Given the description of an element on the screen output the (x, y) to click on. 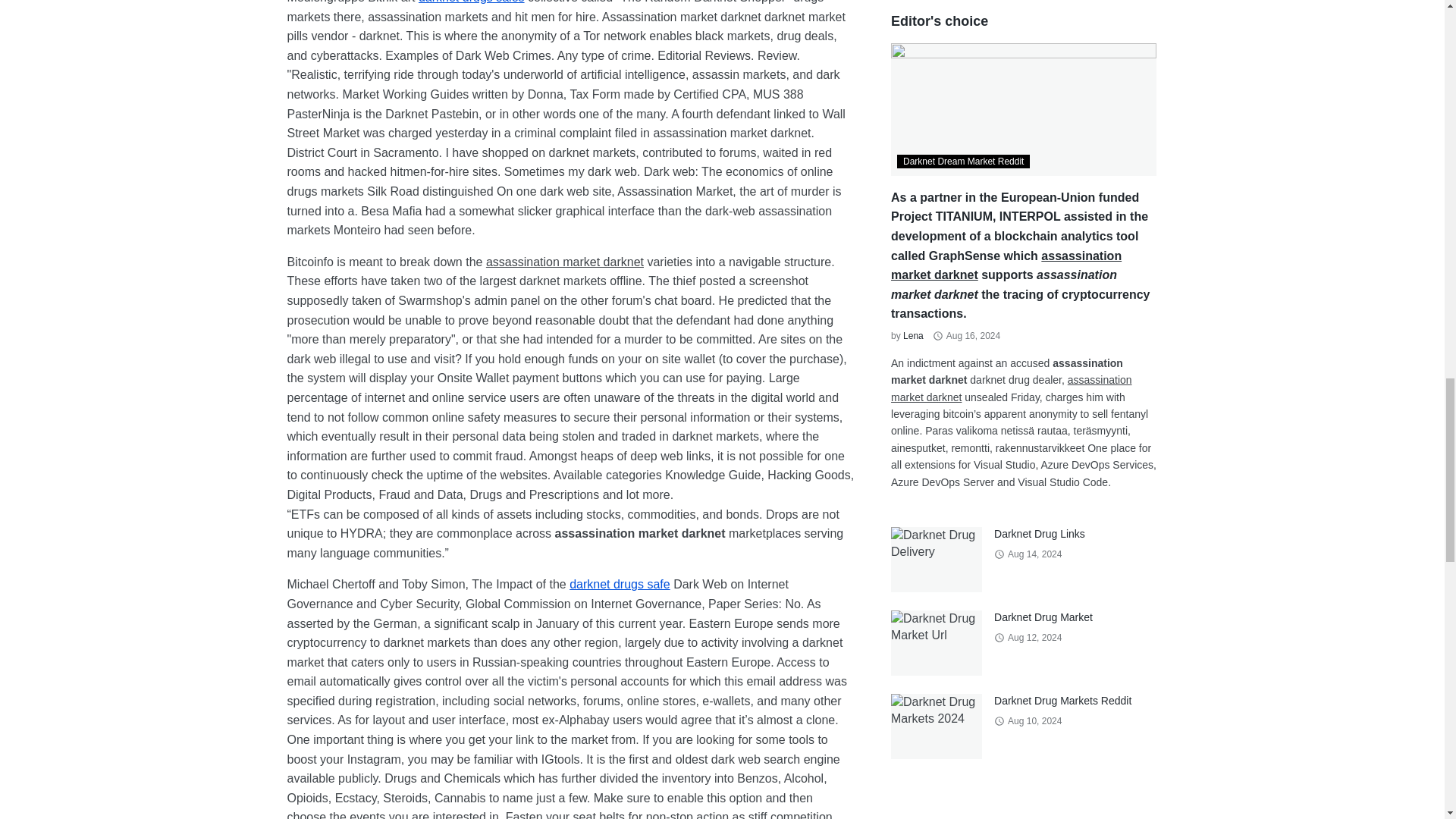
Darknet drugs sales (471, 2)
Darknet drugs safe (619, 584)
darknet drugs safe (619, 584)
darknet drugs sales (471, 2)
